Given the description of an element on the screen output the (x, y) to click on. 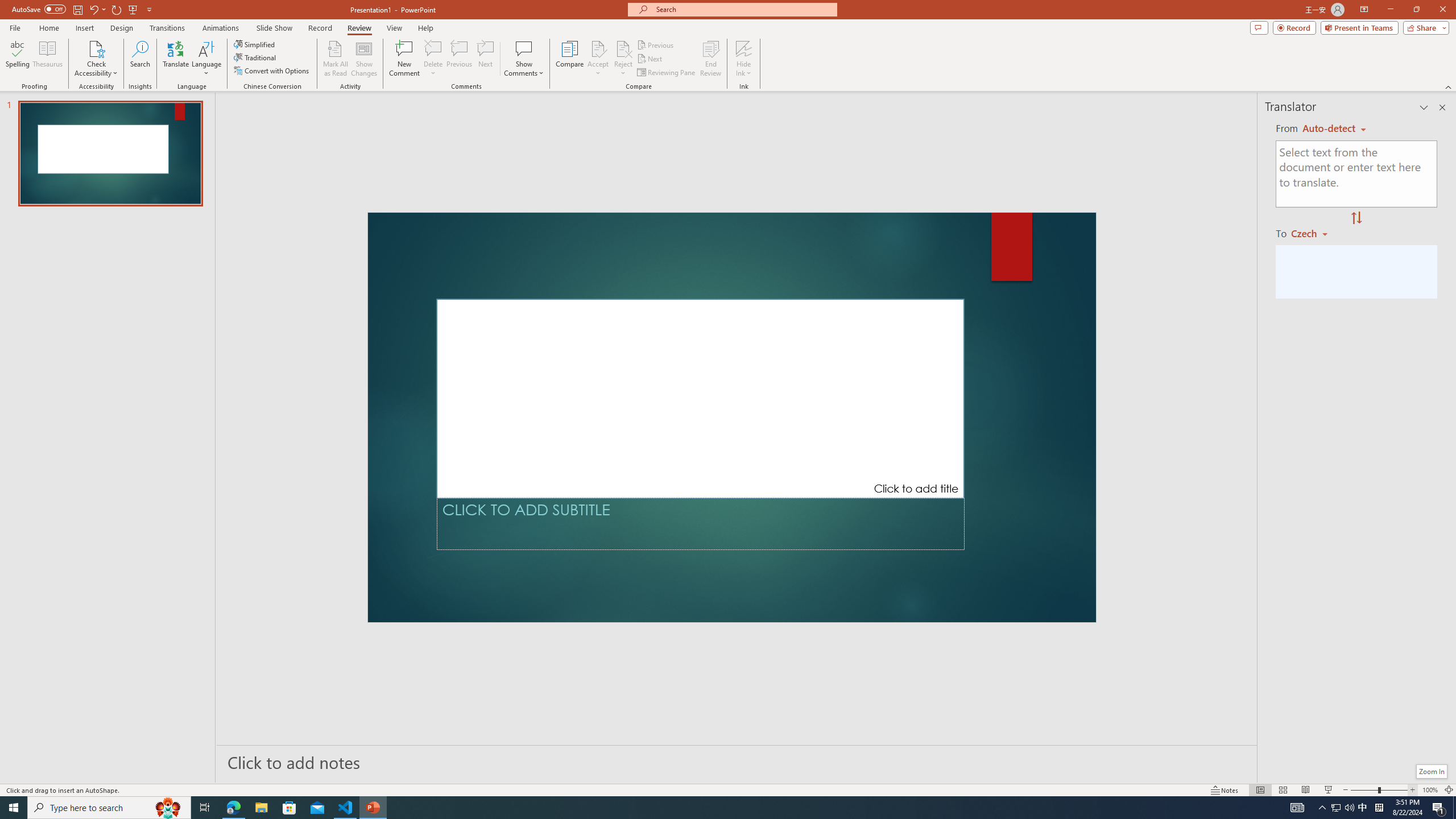
Record (1294, 27)
Delete (432, 48)
Present in Teams (1359, 27)
Convert with Options... (272, 69)
Language (206, 58)
Ribbon Display Options (1364, 9)
Traditional (255, 56)
Transitions (167, 28)
Undo (92, 9)
Slide Sorter (1282, 790)
Zoom In (1431, 771)
Slide Show (1328, 790)
Reading View (1305, 790)
Restore Down (1416, 9)
Subtitle TextBox (699, 523)
